Given the description of an element on the screen output the (x, y) to click on. 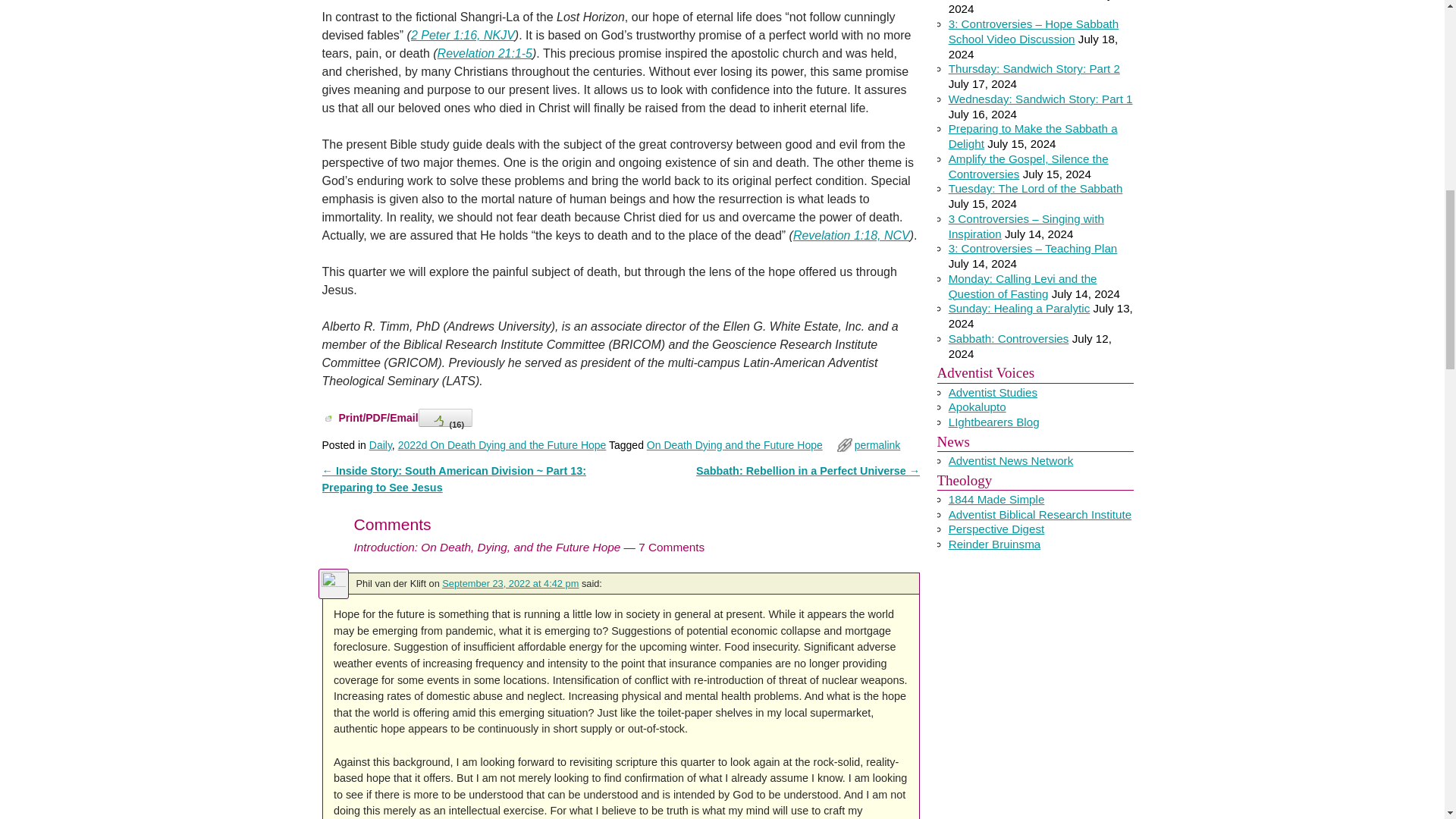
Official Adventist News Network (1011, 460)
by Arthur Patrick of Avondale (992, 391)
 David Hamstra blog (977, 406)
Publication of Adventist Theological Society (997, 528)
